Given the description of an element on the screen output the (x, y) to click on. 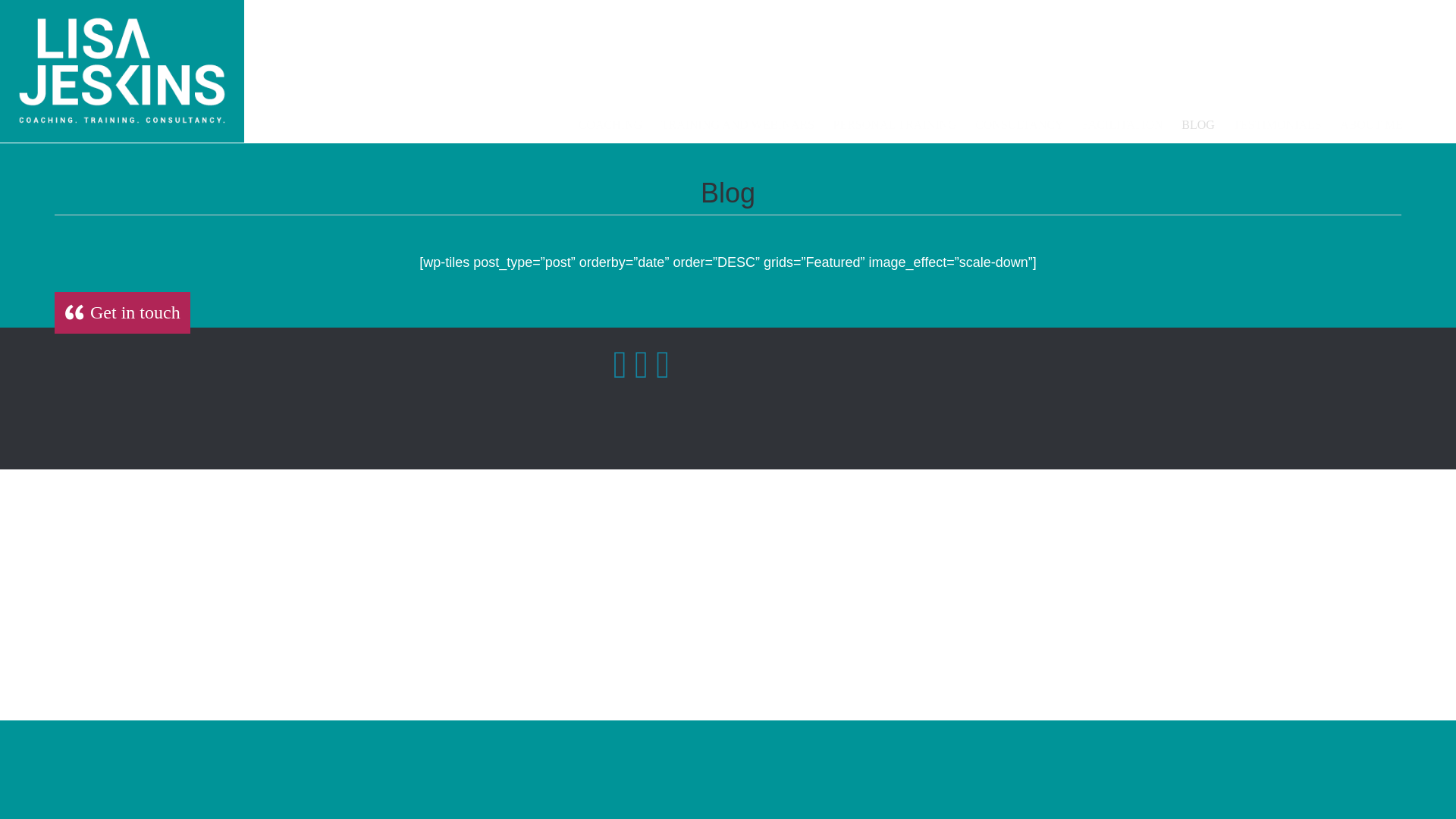
BLOG (1198, 117)
Get in touch (122, 312)
TESTIMONIALS (1276, 117)
ABOUT ME (1371, 117)
PERSONAL TRAINING (894, 117)
COACHING (609, 117)
FACILITATION (1122, 117)
TRAINING AND WEBINARS (737, 117)
CONSULTANCY (1019, 117)
